Given the description of an element on the screen output the (x, y) to click on. 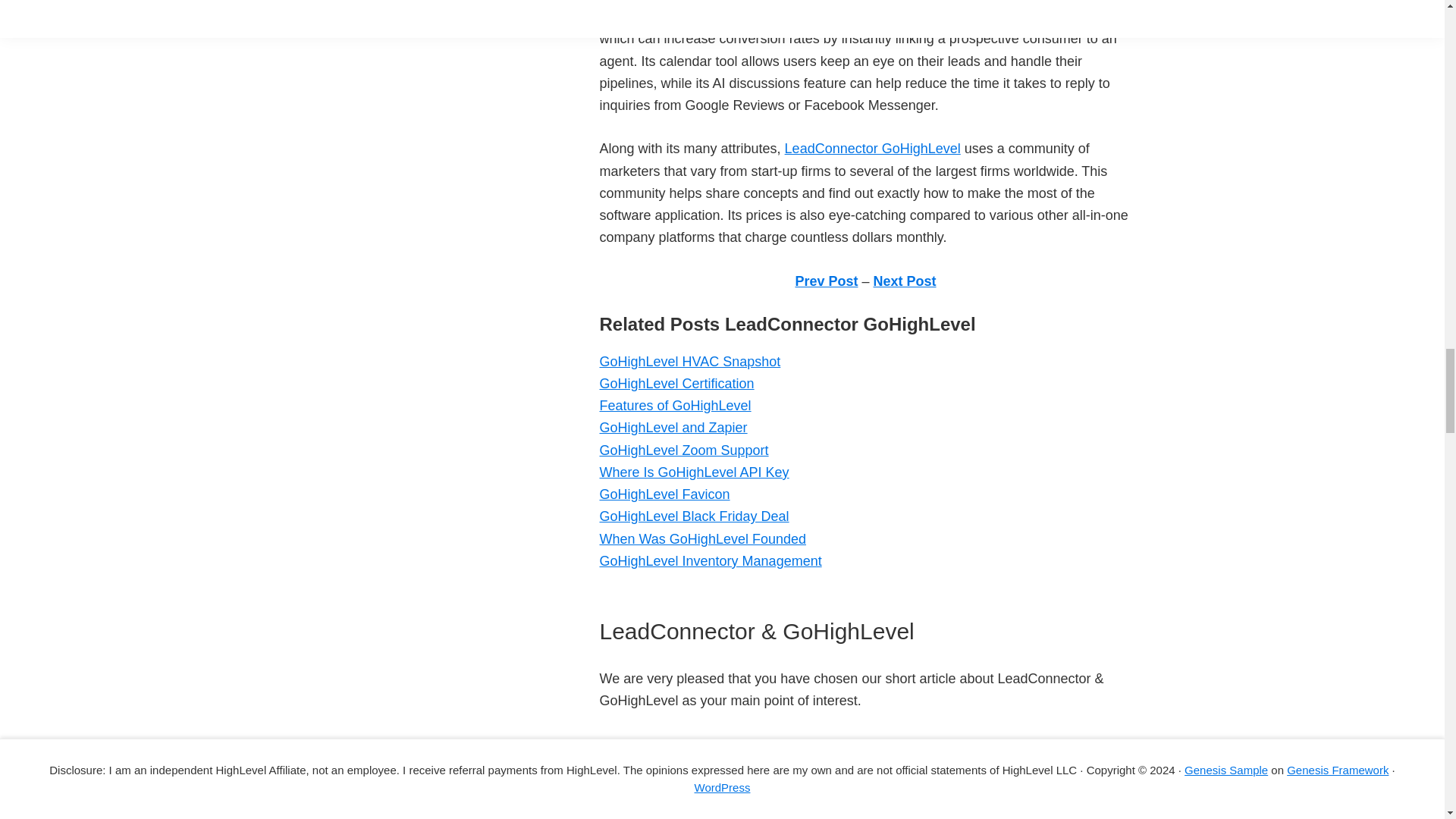
GoHighLevel Certification (676, 383)
When Was GoHighLevel Founded (701, 539)
GoHighLevel Inventory Management (709, 560)
Where Is GoHighLevel API Key (693, 472)
GoHighLevel Favicon (663, 494)
GoHighLevel Certification (676, 383)
LeadConnector GoHighLevel (872, 148)
GoHighLevel HVAC Snapshot (689, 361)
Features of GoHighLevel (674, 405)
GoHighLevel Black Friday Deal (693, 516)
